Given the description of an element on the screen output the (x, y) to click on. 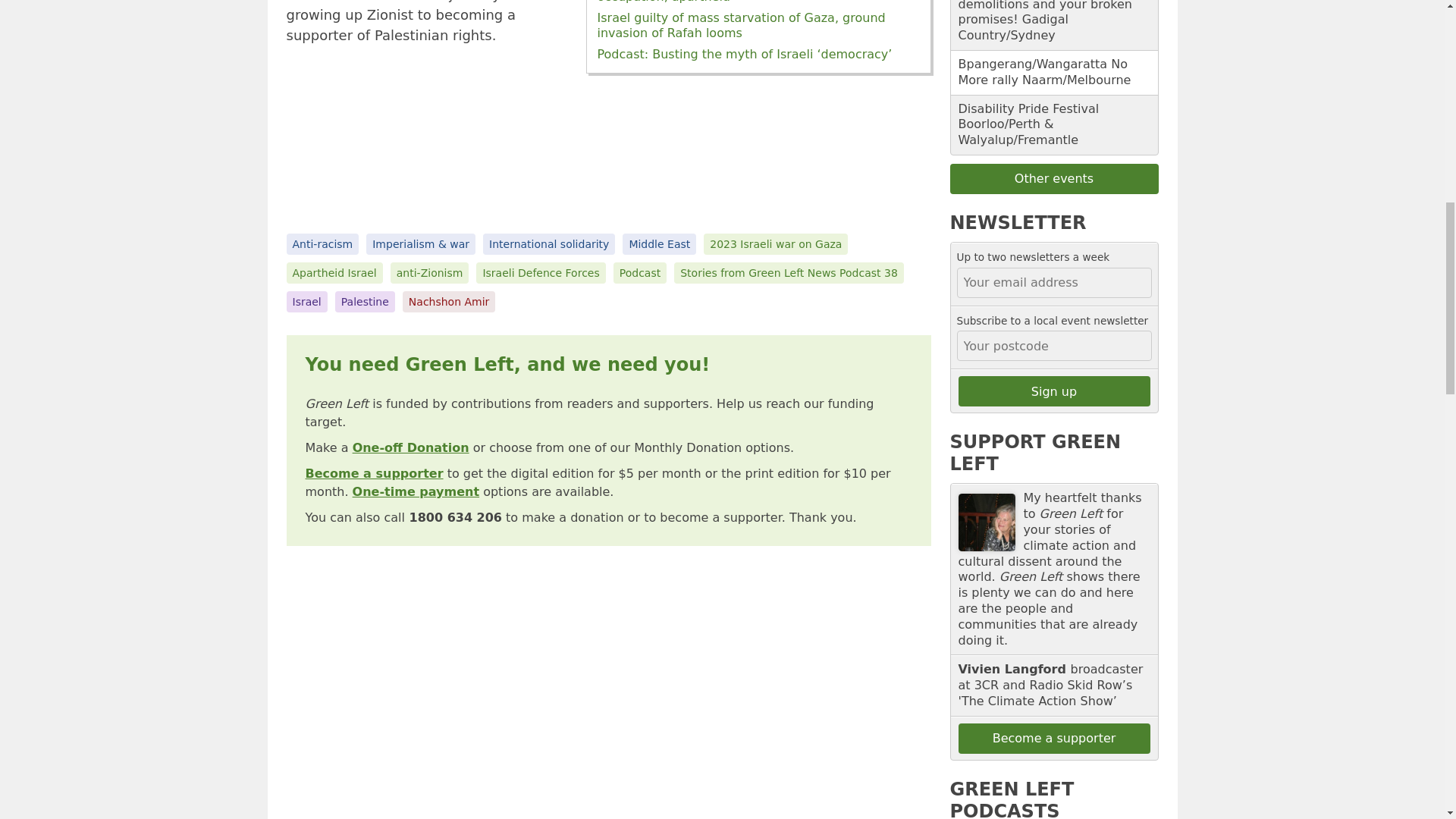
Sign up (1054, 390)
